Given the description of an element on the screen output the (x, y) to click on. 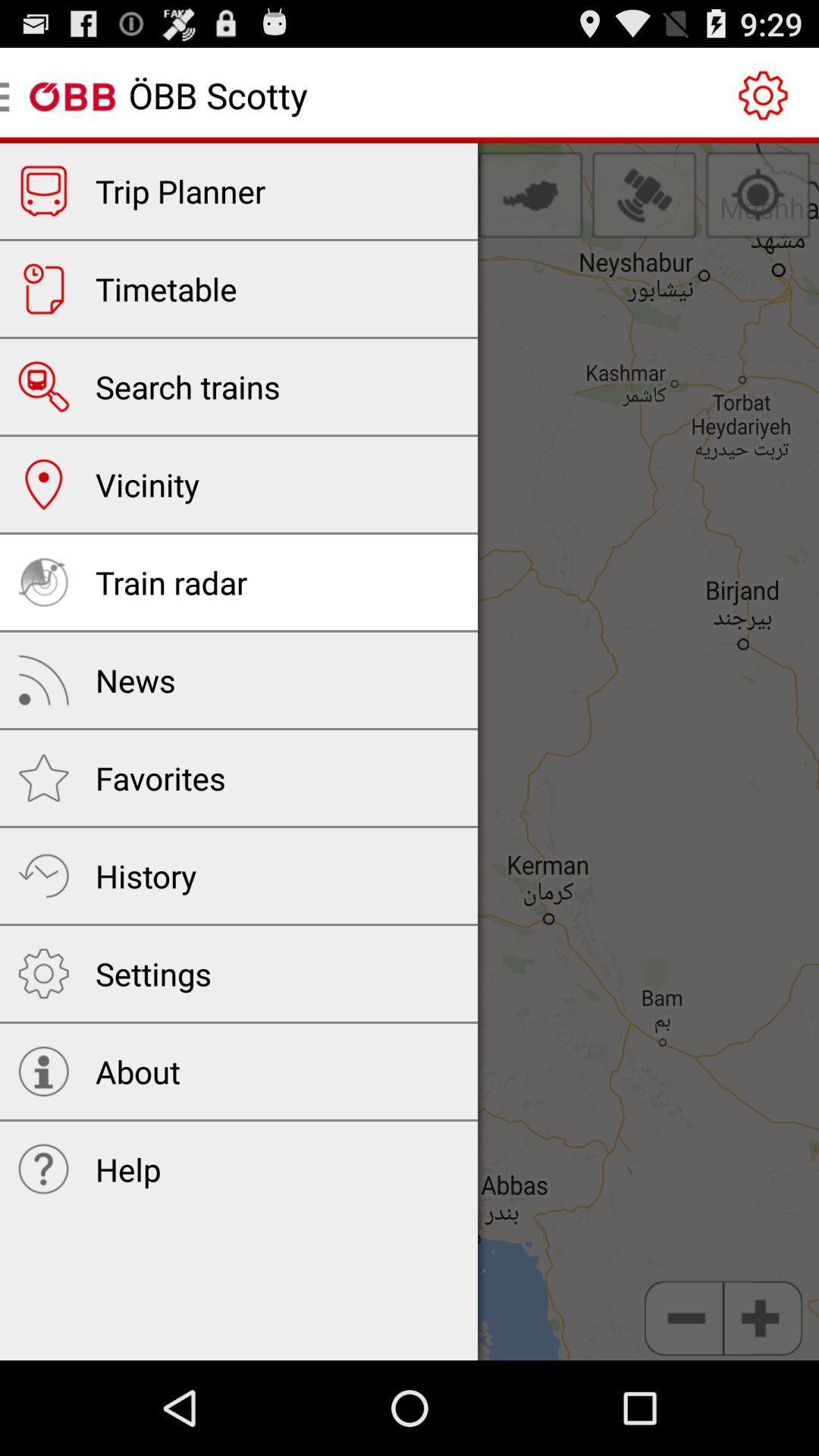
open the item next to the trip planner item (530, 194)
